Given the description of an element on the screen output the (x, y) to click on. 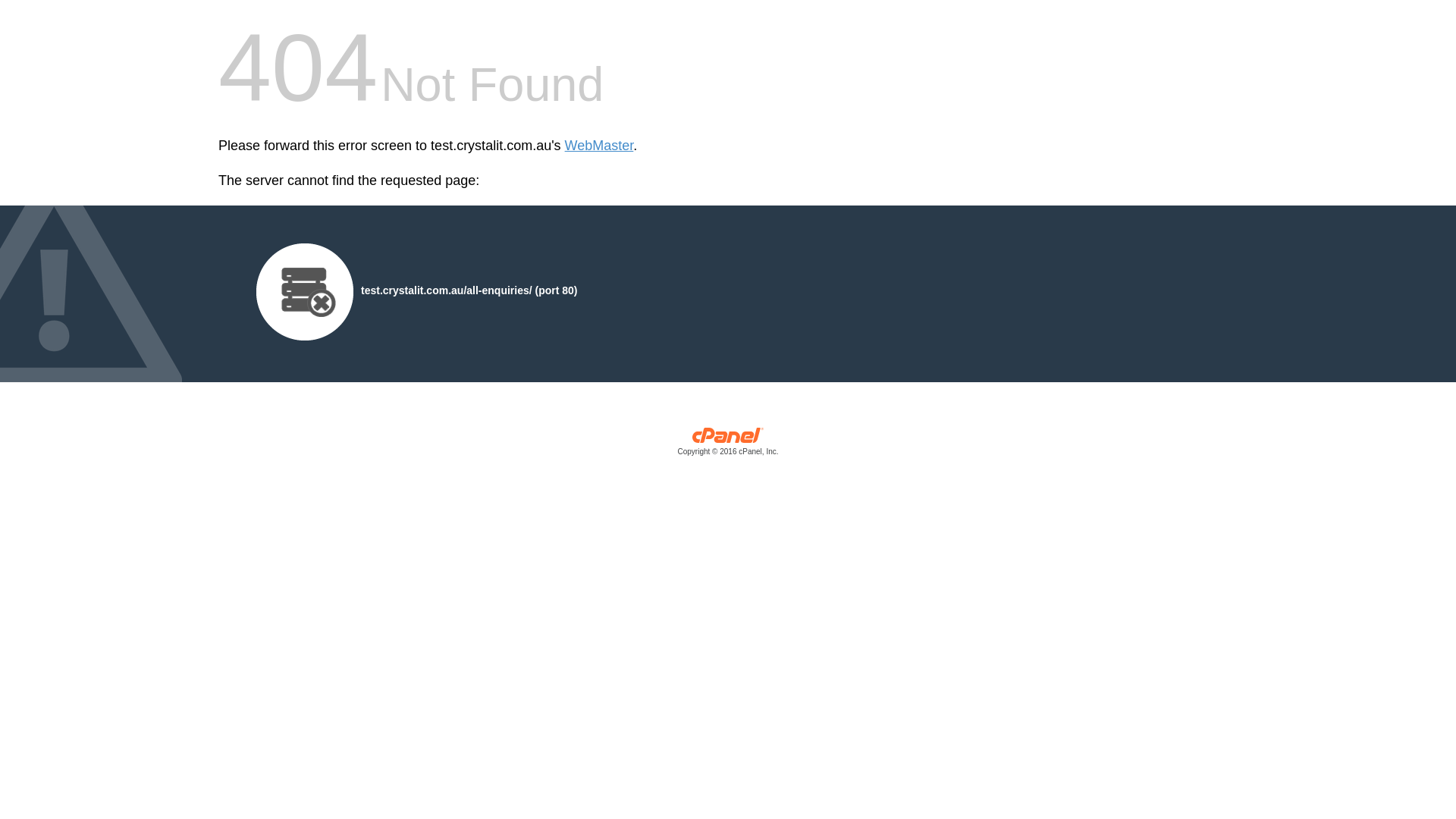
WebMaster Element type: text (598, 145)
